Given the description of an element on the screen output the (x, y) to click on. 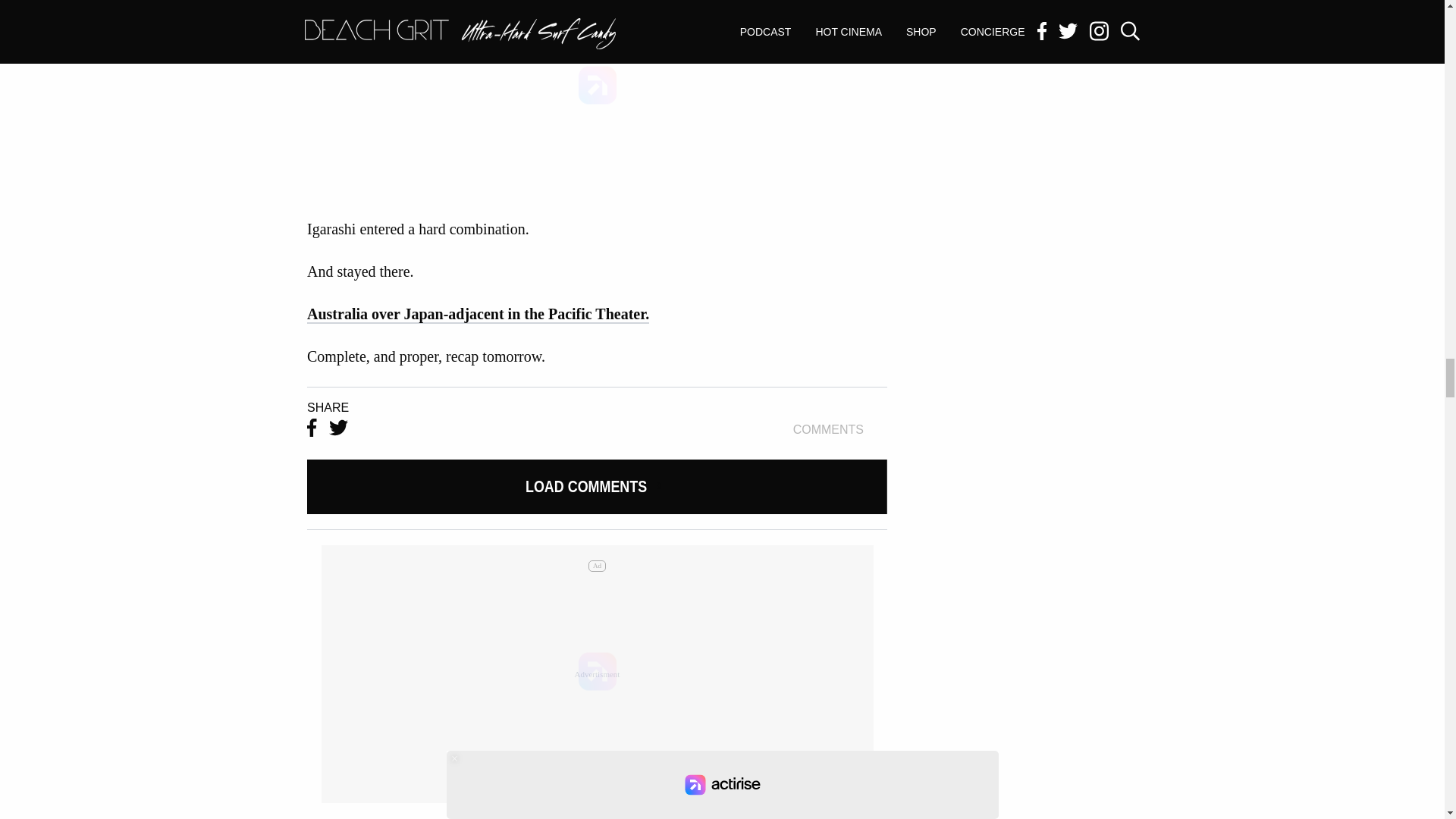
Australia over Japan-adjacent in the Pacific Theater. (839, 429)
